Given the description of an element on the screen output the (x, y) to click on. 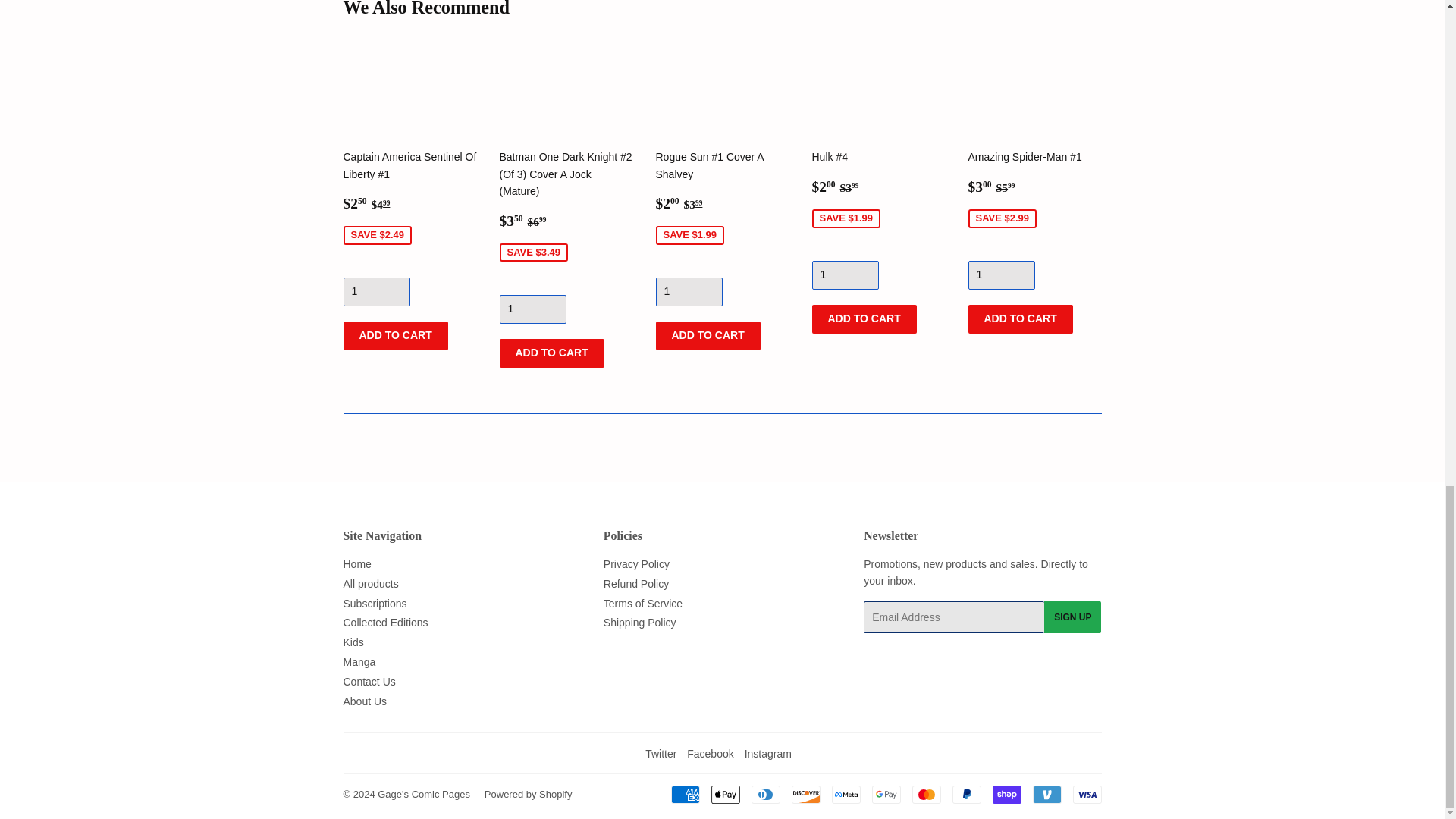
Diners Club (764, 794)
Add to cart (862, 318)
Discover (806, 794)
Mastercard (925, 794)
Apple Pay (725, 794)
Add to cart (707, 335)
1 (688, 291)
Google Pay (886, 794)
Shop Pay (1005, 794)
American Express (683, 794)
Add to cart (1019, 318)
Venmo (1046, 794)
Add to cart (551, 353)
Meta Pay (845, 794)
1 (532, 308)
